Given the description of an element on the screen output the (x, y) to click on. 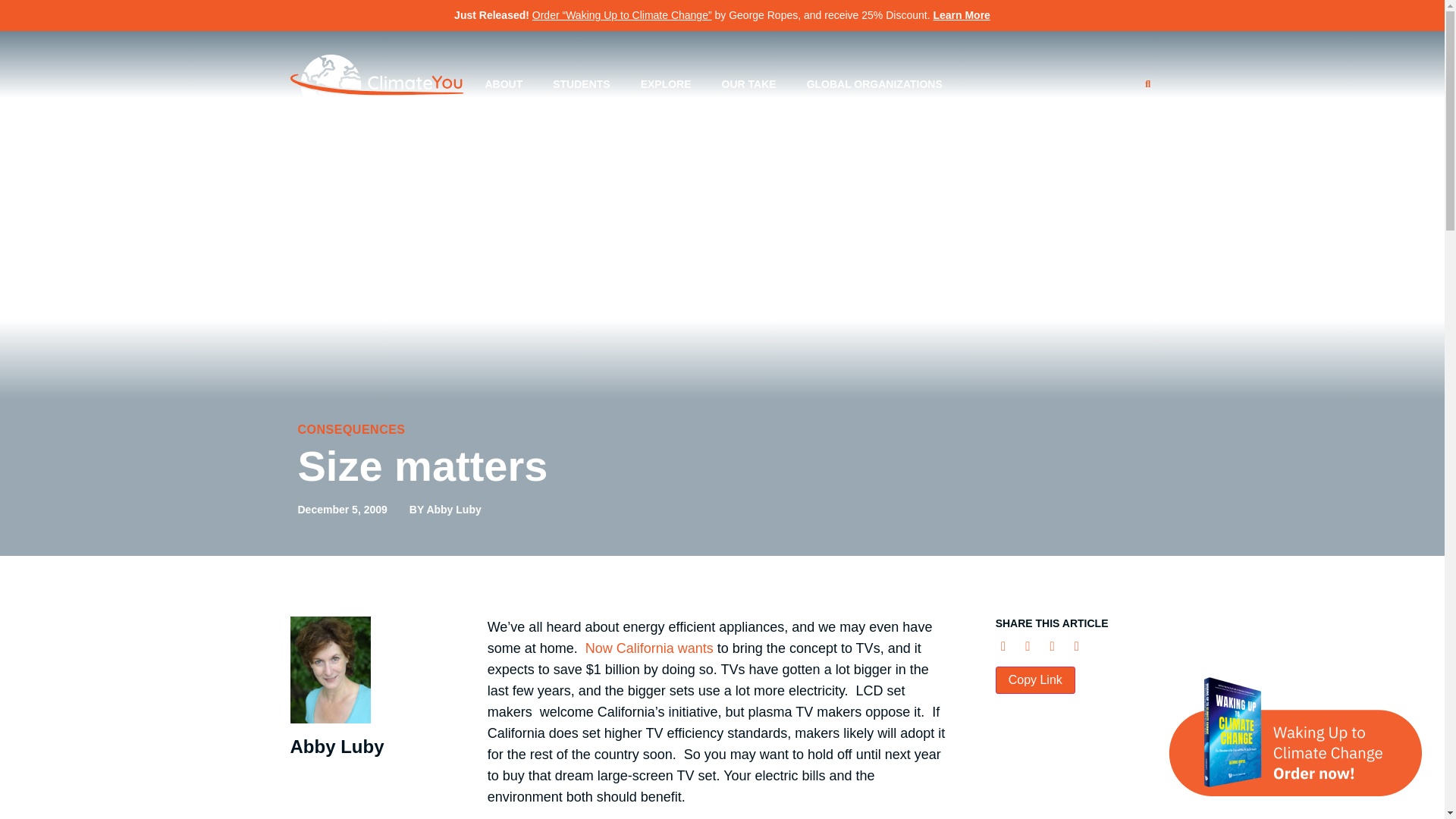
CONSEQUENCES (350, 429)
Learn More (961, 15)
OUR TAKE (749, 83)
Now California wants (649, 648)
BY Abby Luby (445, 509)
Copy Link (1035, 679)
GLOBAL ORGANIZATIONS (875, 83)
ABOUT (502, 83)
EXPLORE (666, 83)
STUDENTS (580, 83)
Group 7 (376, 83)
